Given the description of an element on the screen output the (x, y) to click on. 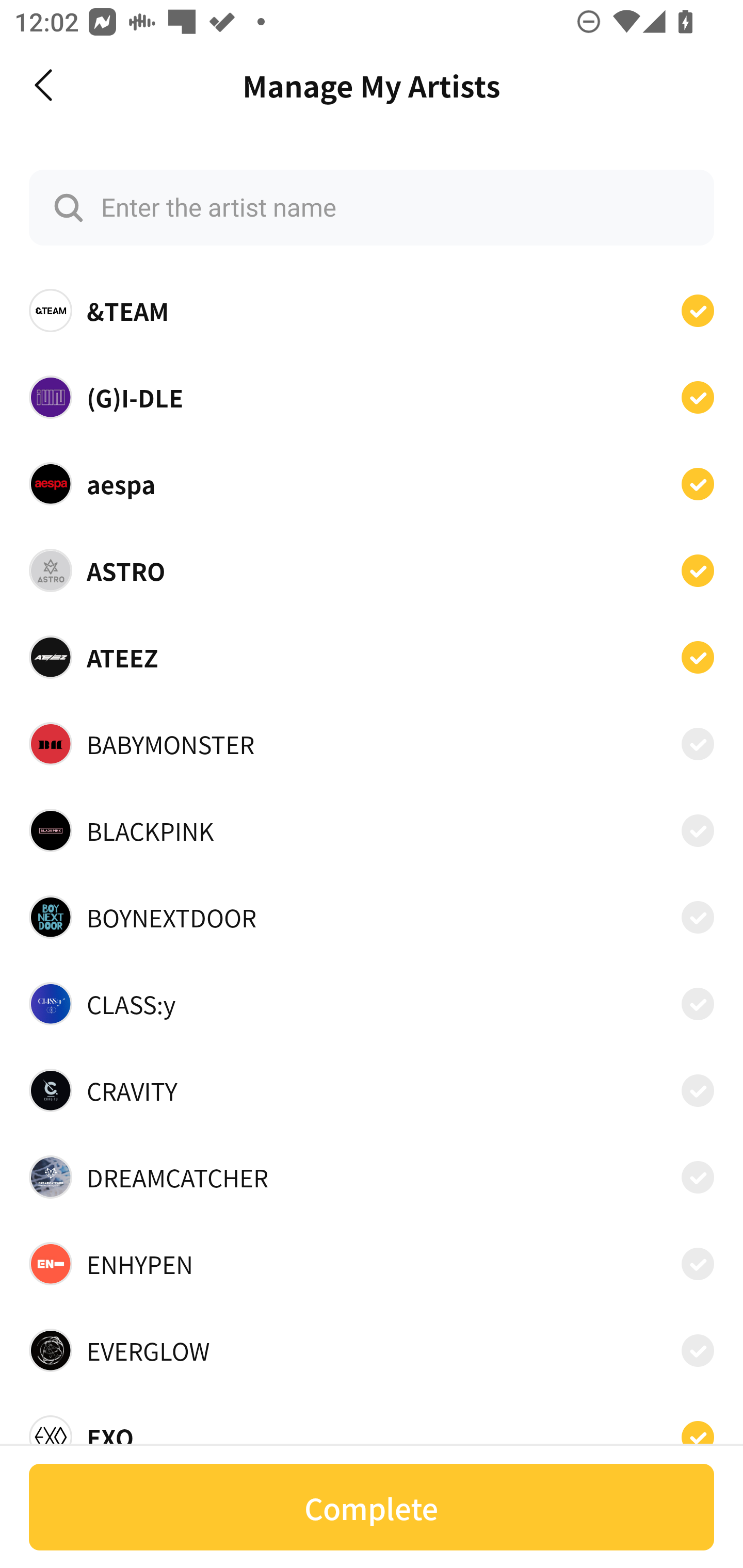
Enter the artist name (371, 207)
&TEAM (371, 310)
(G)I-DLE (371, 396)
aespa (371, 483)
ASTRO (371, 570)
ATEEZ (371, 656)
BABYMONSTER (371, 743)
BLACKPINK (371, 830)
BOYNEXTDOOR (371, 917)
CLASS:y (371, 1003)
CRAVITY (371, 1090)
DREAMCATCHER (371, 1176)
ENHYPEN (371, 1263)
EVERGLOW (371, 1350)
EXO (371, 1430)
Complete (371, 1507)
